Given the description of an element on the screen output the (x, y) to click on. 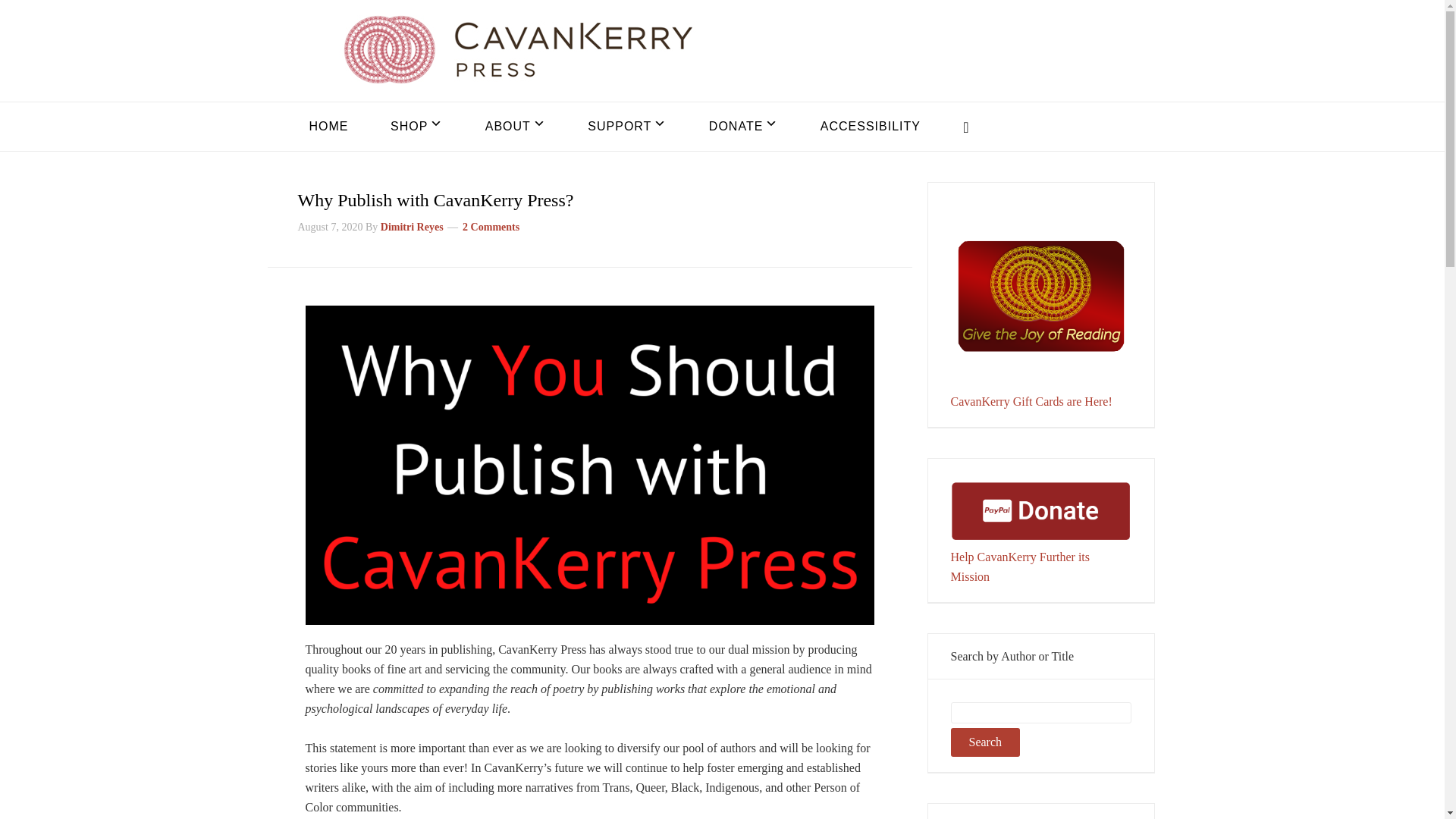
ABOUT (514, 126)
CavanKerry Press (516, 49)
DONATE (743, 126)
SUPPORT (627, 126)
SHOP (416, 126)
ACCESSIBILITY (870, 126)
HOME (327, 126)
